Given the description of an element on the screen output the (x, y) to click on. 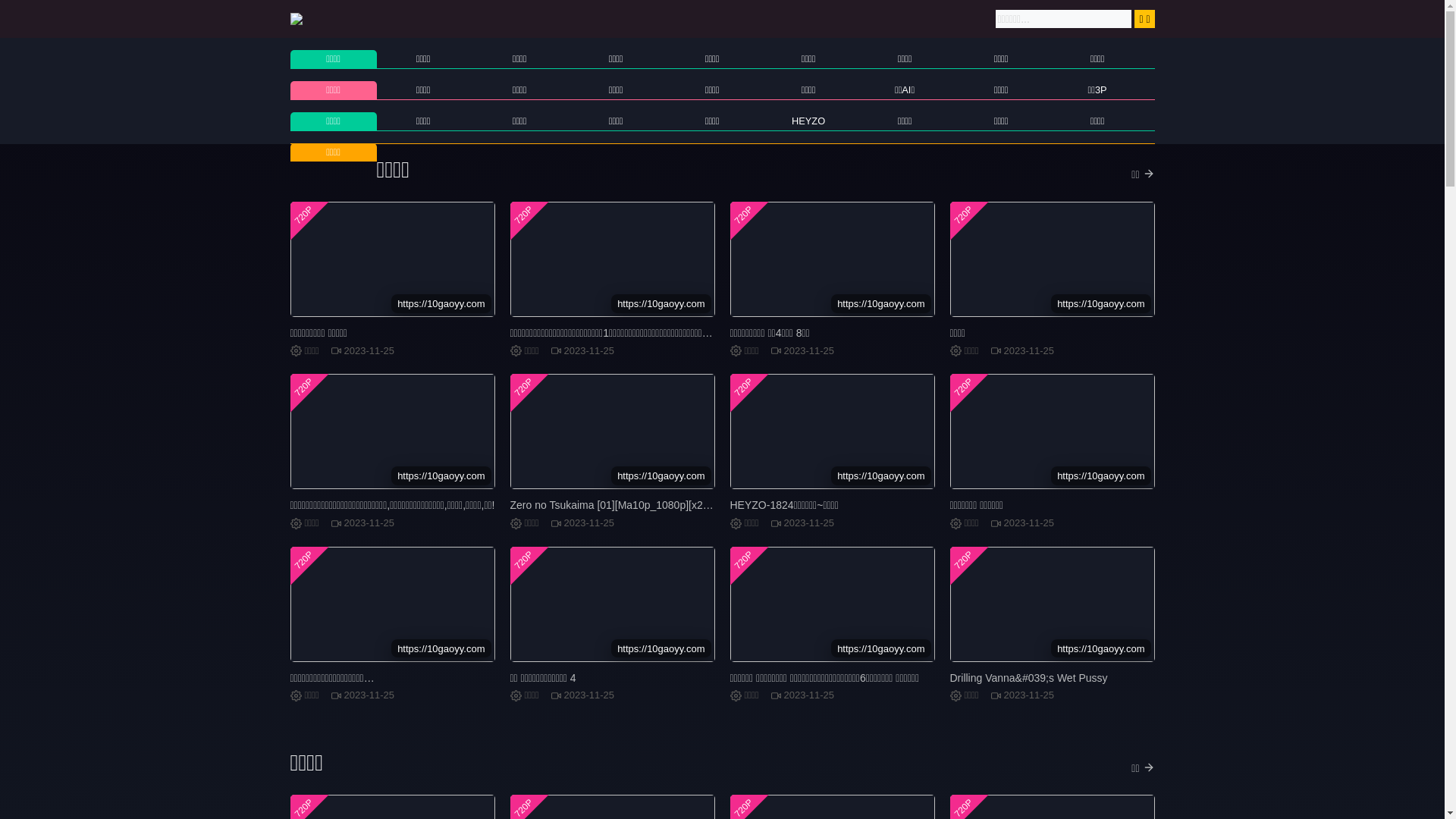
720P
https://10gaoyy.com Element type: text (1051, 431)
720P
https://10gaoyy.com Element type: text (611, 431)
720P
https://10gaoyy.com Element type: text (611, 604)
720P
https://10gaoyy.com Element type: text (831, 604)
720P
https://10gaoyy.com Element type: text (391, 258)
Zero no Tsukaima [01][Ma10p_1080p][x265_flac] Element type: text (624, 504)
720P
https://10gaoyy.com Element type: text (611, 258)
HEYZO Element type: text (808, 120)
720P
https://10gaoyy.com Element type: text (391, 431)
720P
https://10gaoyy.com Element type: text (391, 604)
720P
https://10gaoyy.com Element type: text (831, 431)
720P
https://10gaoyy.com Element type: text (1051, 604)
720P
https://10gaoyy.com Element type: text (831, 258)
Drilling Vanna&#039;s Wet Pussy Element type: text (1028, 677)
720P
https://10gaoyy.com Element type: text (1051, 258)
